Given the description of an element on the screen output the (x, y) to click on. 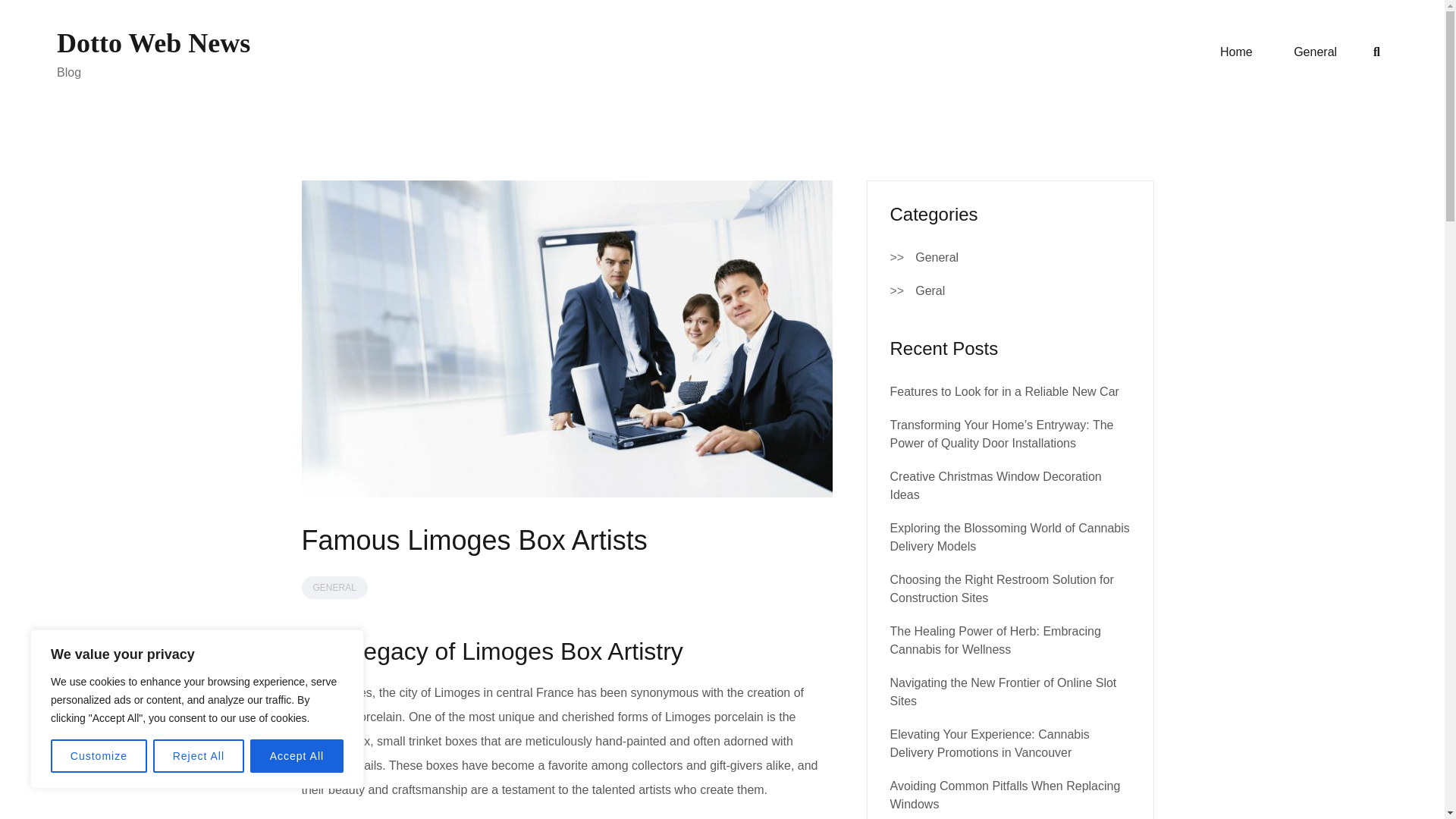
Home (1236, 52)
GENERAL (334, 587)
Customize (98, 756)
Exploring the Blossoming World of Cannabis Delivery Models (1009, 536)
Creative Christmas Window Decoration Ideas (995, 485)
Accept All (296, 756)
General (1315, 52)
General (936, 257)
Reject All (198, 756)
Dotto Web News (153, 42)
